Given the description of an element on the screen output the (x, y) to click on. 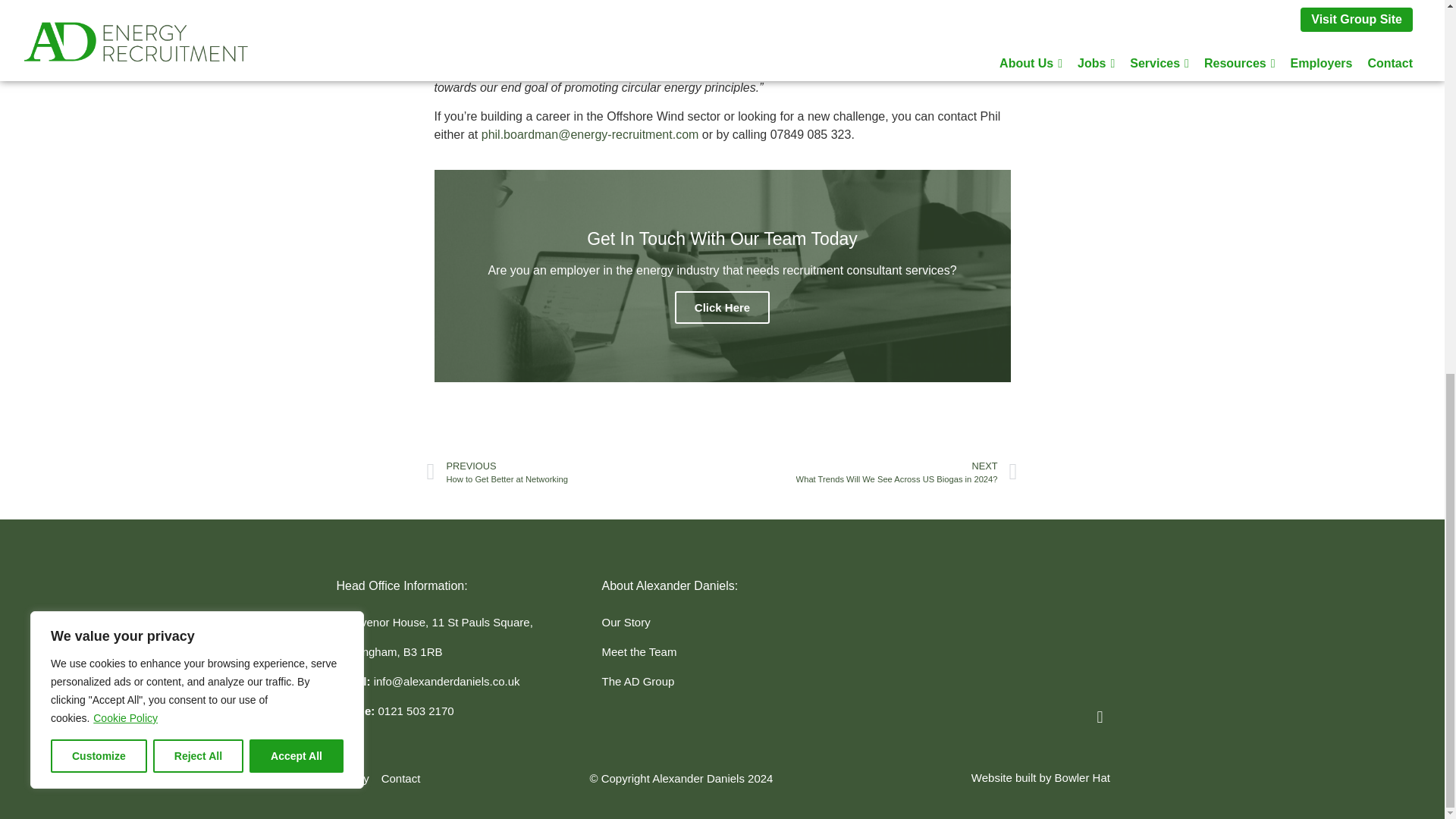
Accept All (295, 70)
Cookie Policy (125, 33)
Customize (98, 70)
Reject All (197, 70)
